Given the description of an element on the screen output the (x, y) to click on. 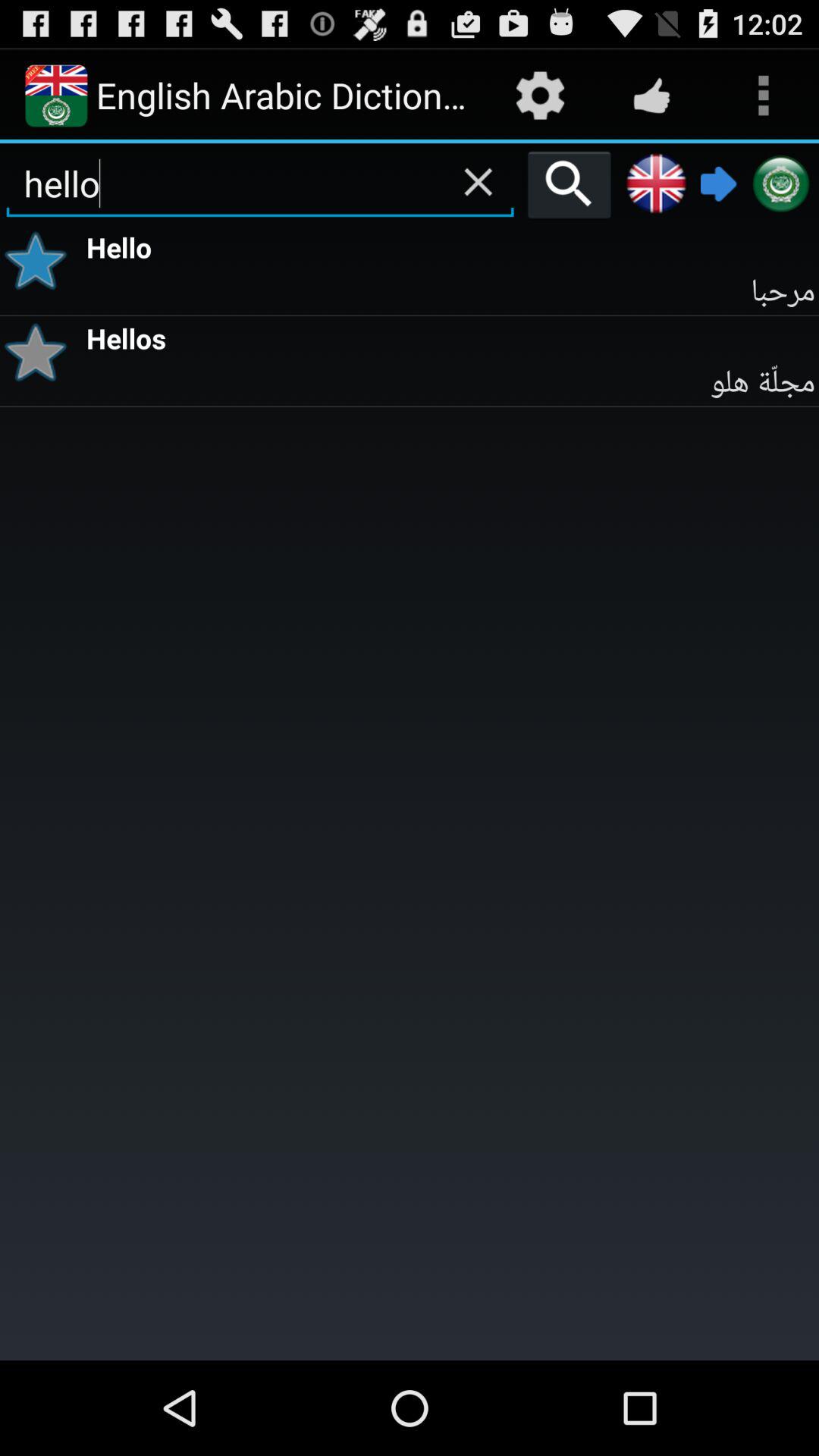
execute search (569, 184)
